Given the description of an element on the screen output the (x, y) to click on. 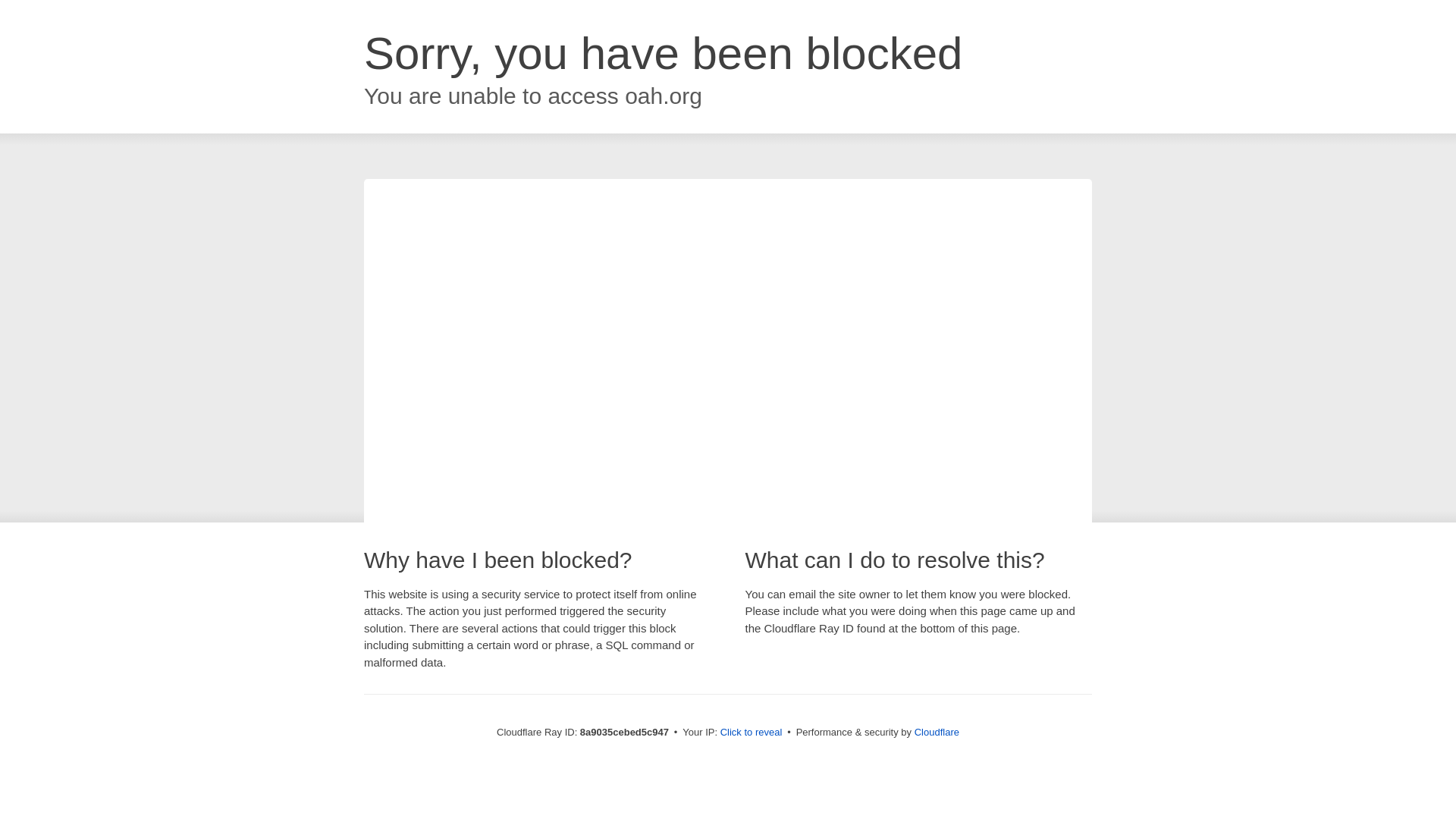
Click to reveal (751, 732)
Cloudflare (936, 731)
